Given the description of an element on the screen output the (x, y) to click on. 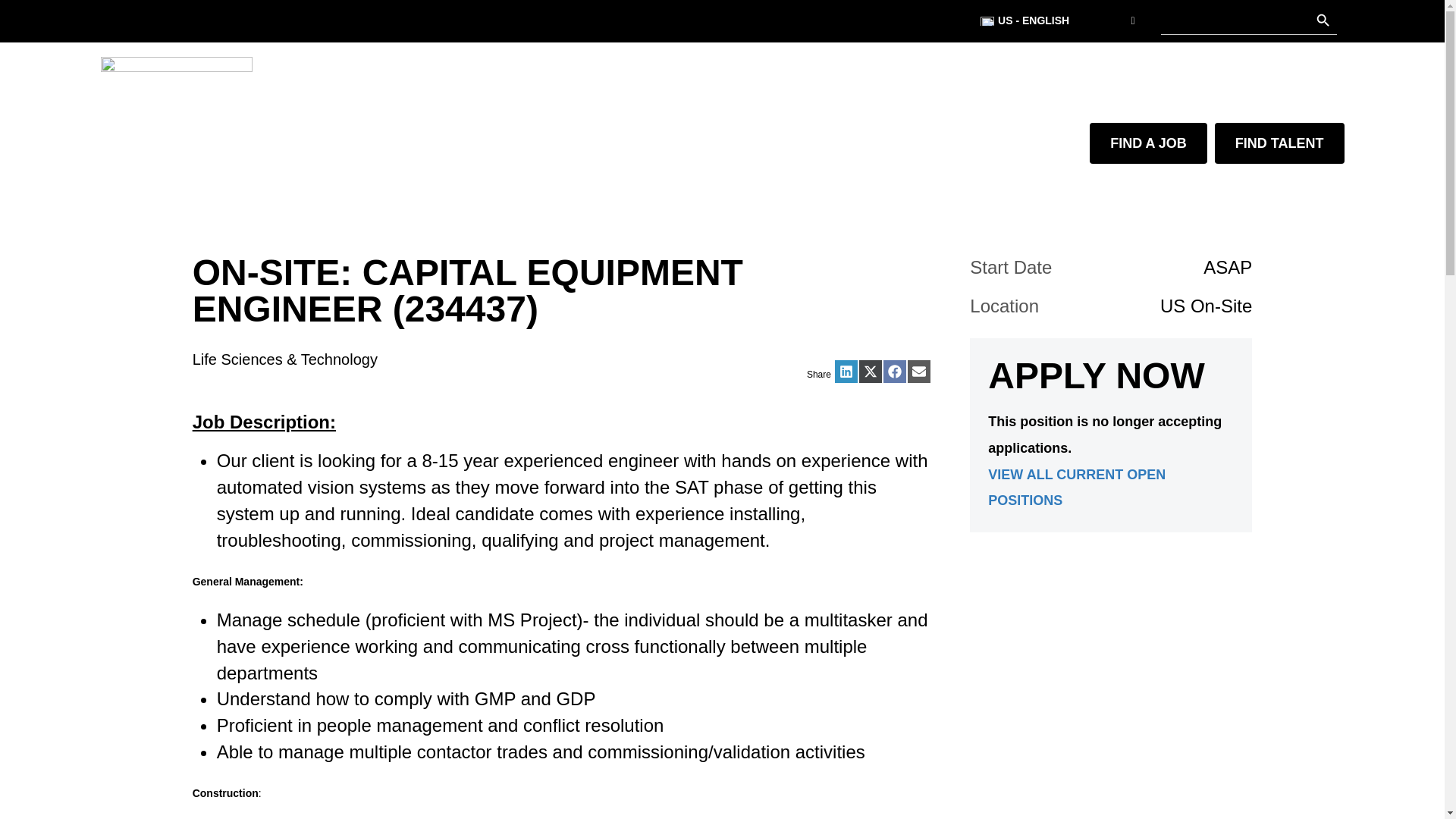
CONTACT US (728, 191)
BLOG (544, 191)
SERVICES (465, 191)
US - ENGLISH (1059, 21)
ABOUT US (623, 191)
SEARCH BUTTON (1322, 21)
